Given the description of an element on the screen output the (x, y) to click on. 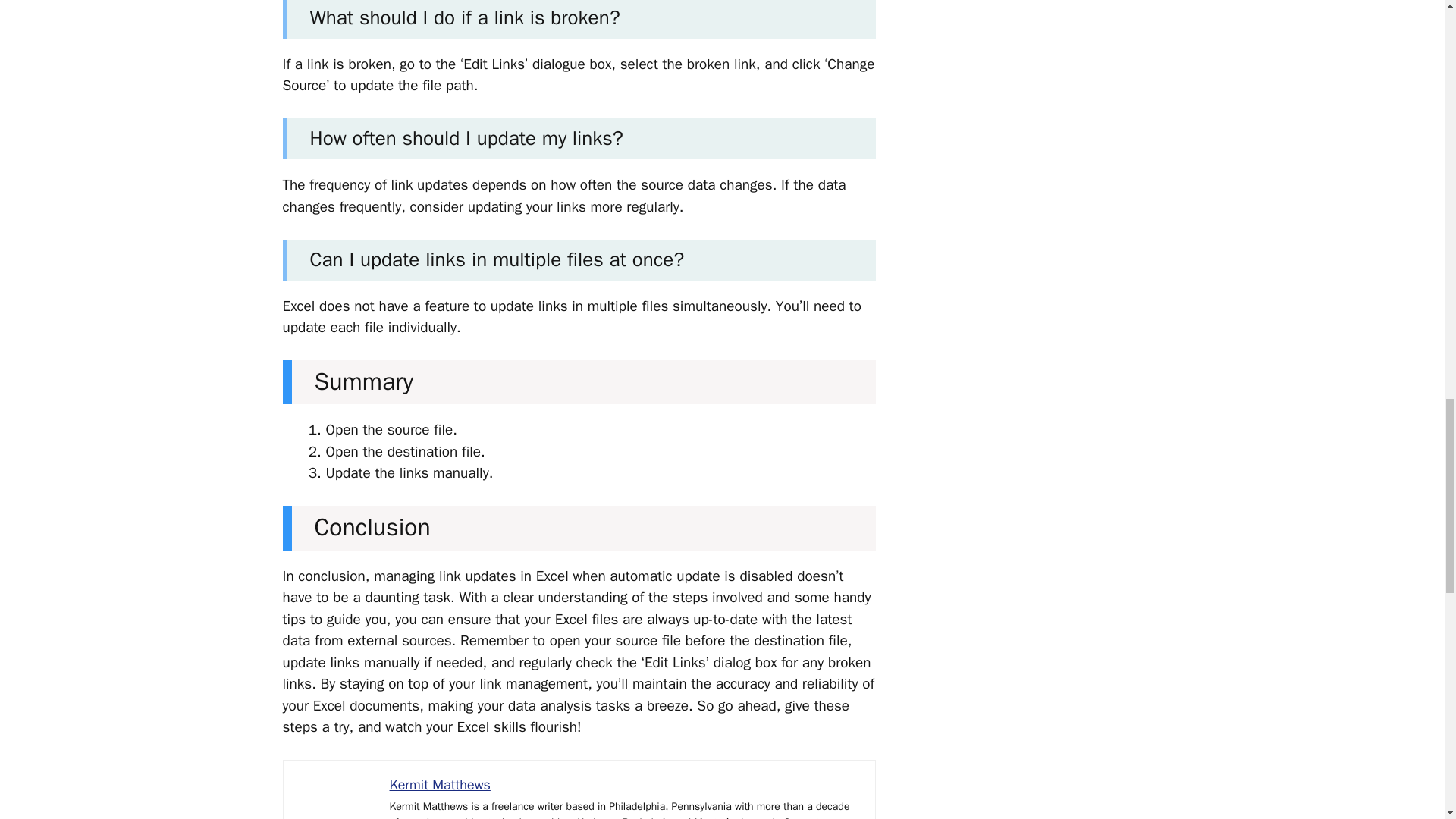
Kermit Matthews (440, 784)
